Given the description of an element on the screen output the (x, y) to click on. 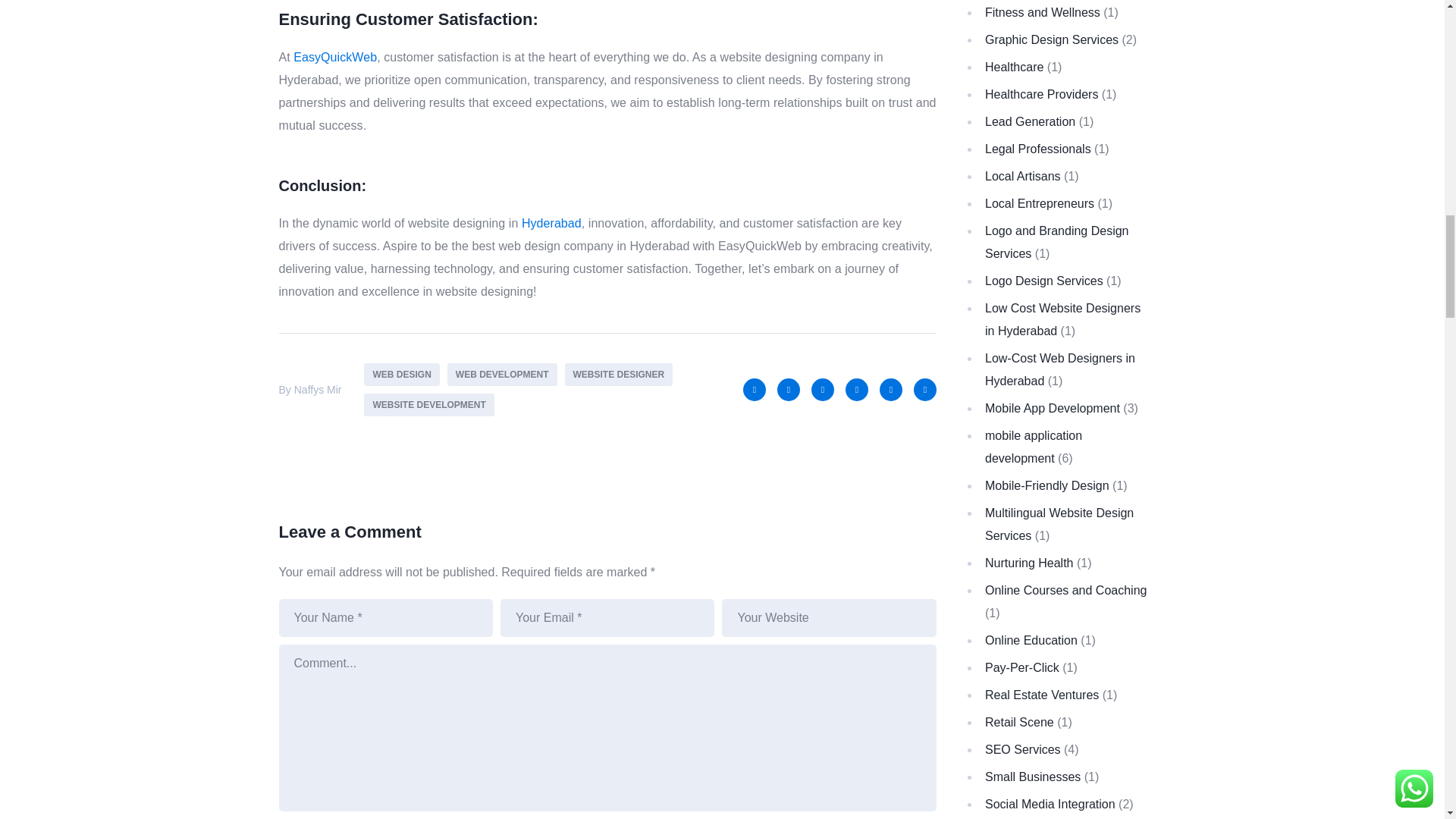
Tumblr (925, 389)
Facebook (753, 389)
EasyQuickWeb (335, 56)
Hyderabad (550, 223)
Instagram (856, 389)
WEB DESIGN (401, 374)
LinkedIn (822, 389)
WEBSITE DESIGNER (618, 374)
Twitter (788, 389)
Naffys Mir (318, 389)
